Given the description of an element on the screen output the (x, y) to click on. 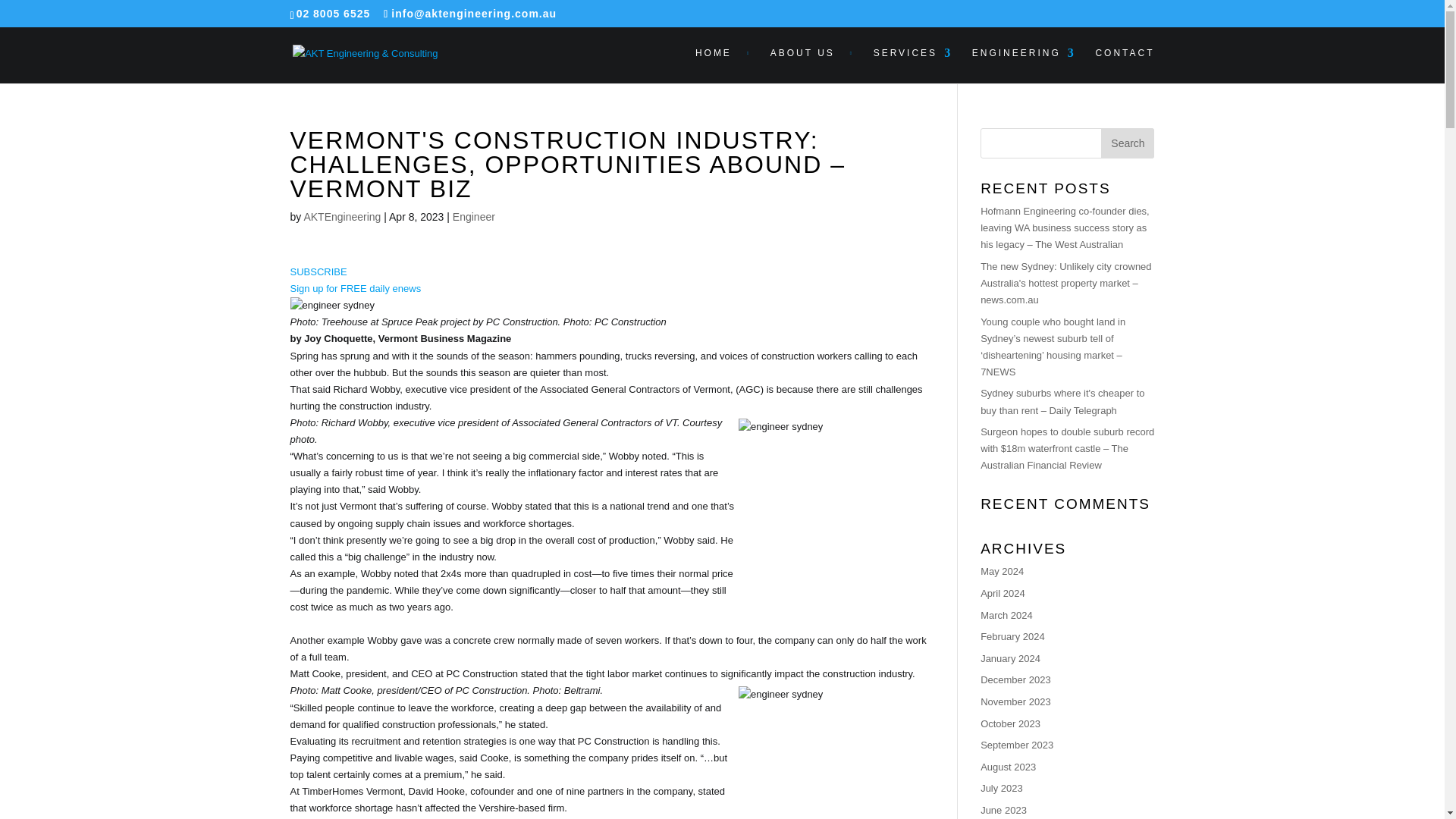
SERVICES (912, 65)
May 2024 (1001, 571)
April 2024 (1002, 593)
ABOUT US (811, 65)
AKTEngineering (341, 216)
Sign up for FREE daily enews (354, 288)
SUBSCRIBE (317, 271)
Engineer (473, 216)
ENGINEERING (1023, 65)
